Given the description of an element on the screen output the (x, y) to click on. 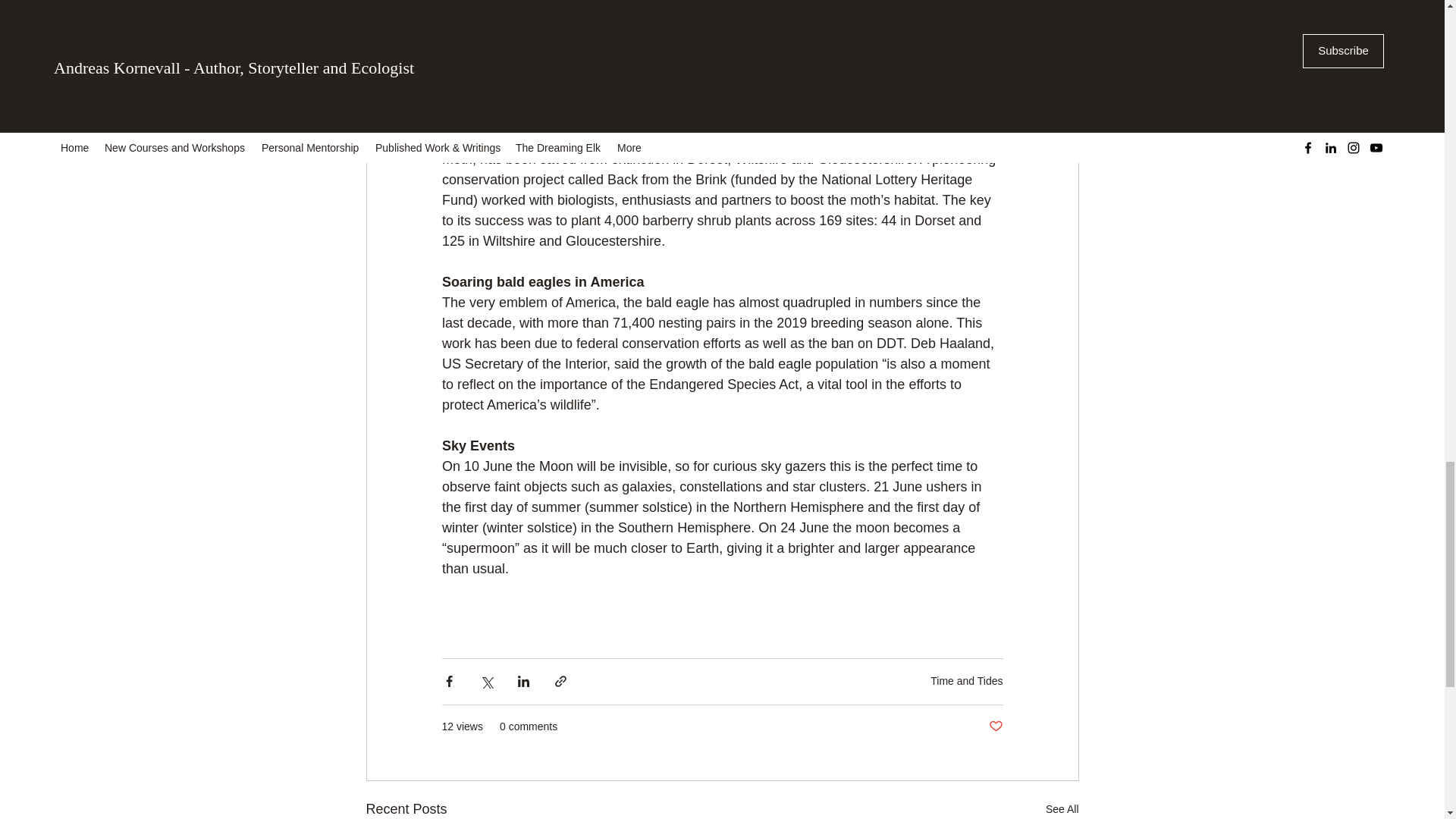
Post not marked as liked (995, 726)
See All (1061, 808)
Time and Tides (966, 680)
